Given the description of an element on the screen output the (x, y) to click on. 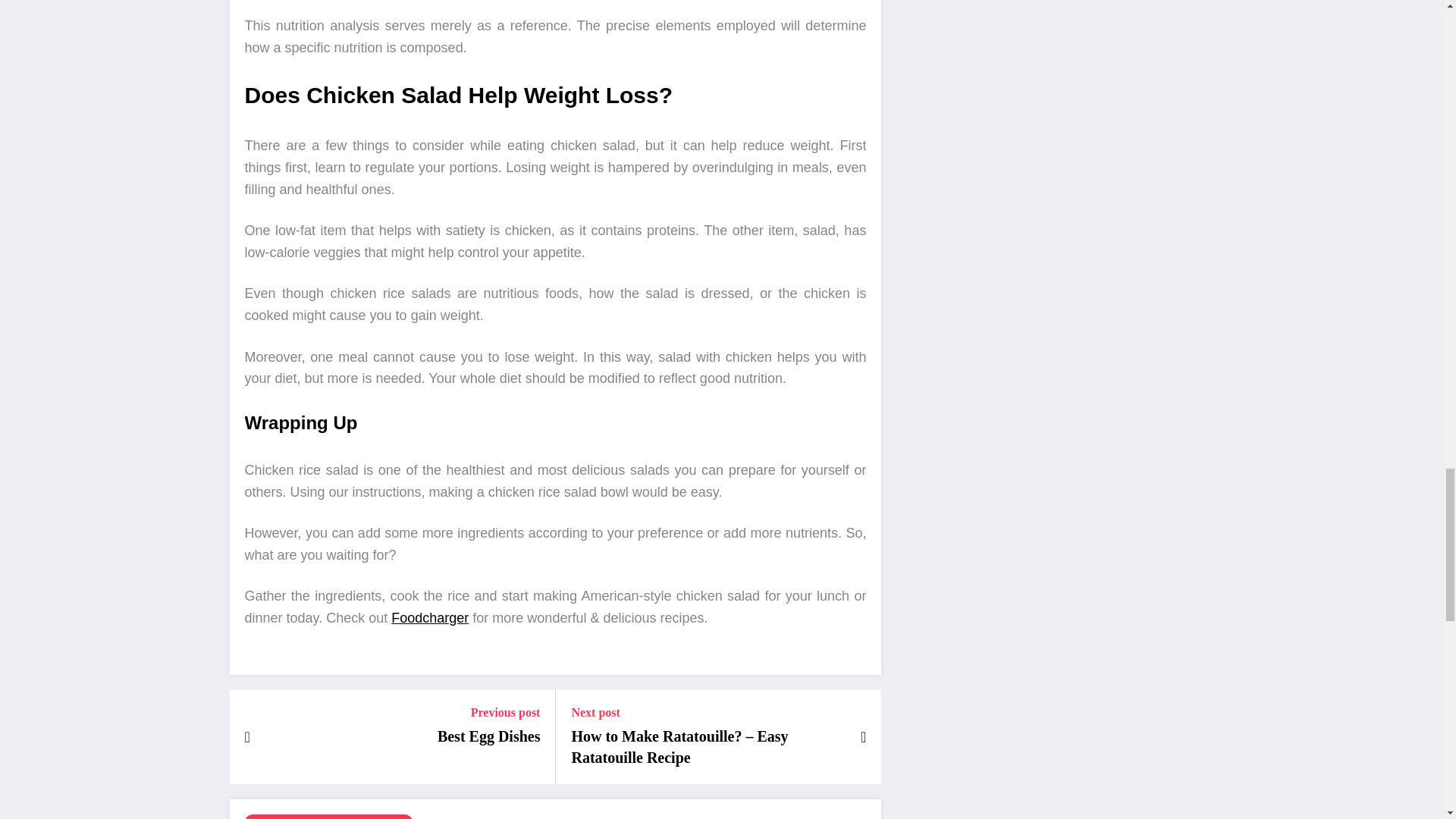
Previous post (489, 712)
Previous post (489, 712)
Best Egg Dishes (489, 735)
Foodcharger (429, 617)
Next post (706, 712)
